Given the description of an element on the screen output the (x, y) to click on. 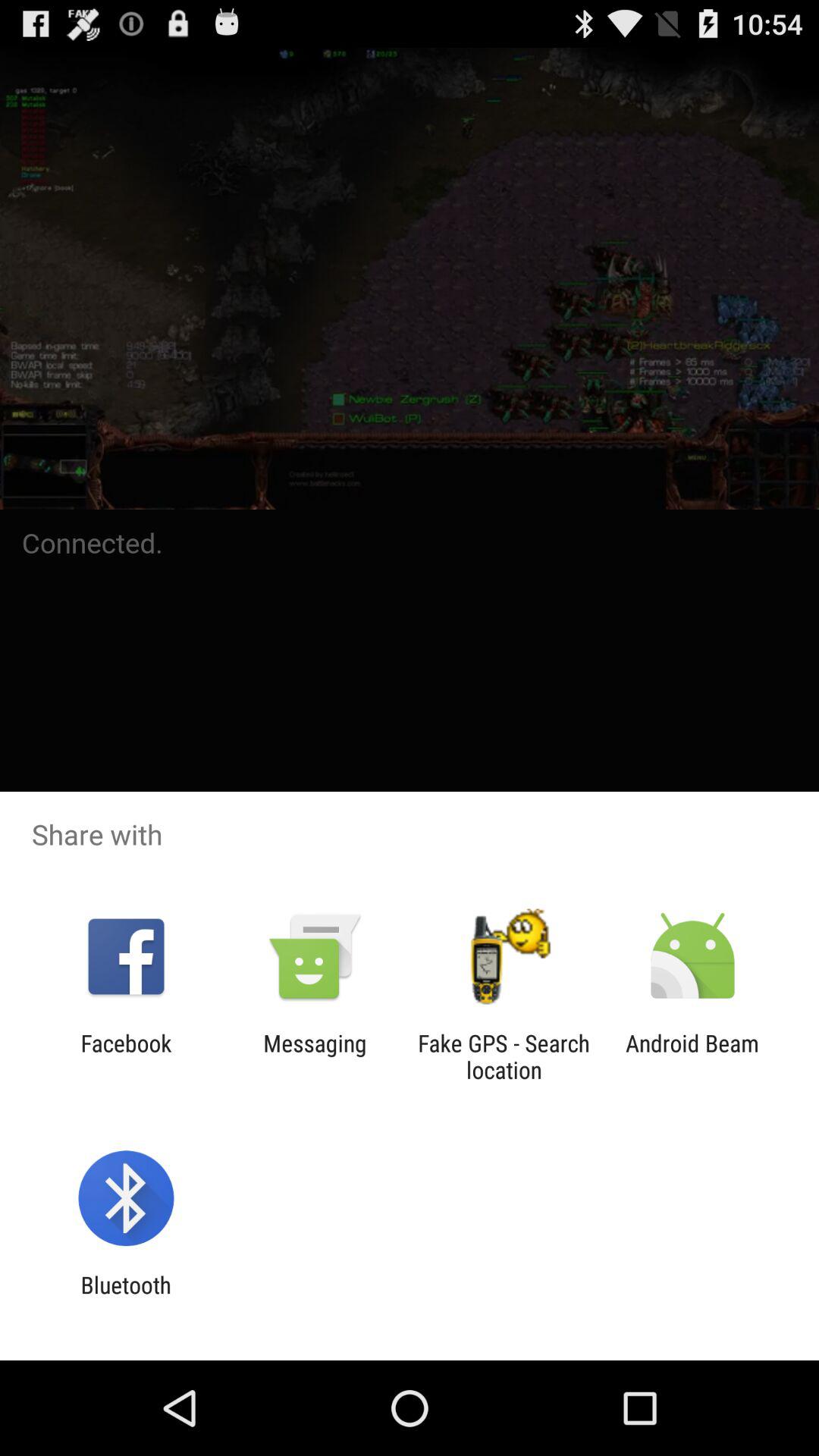
flip to the messaging (314, 1056)
